Given the description of an element on the screen output the (x, y) to click on. 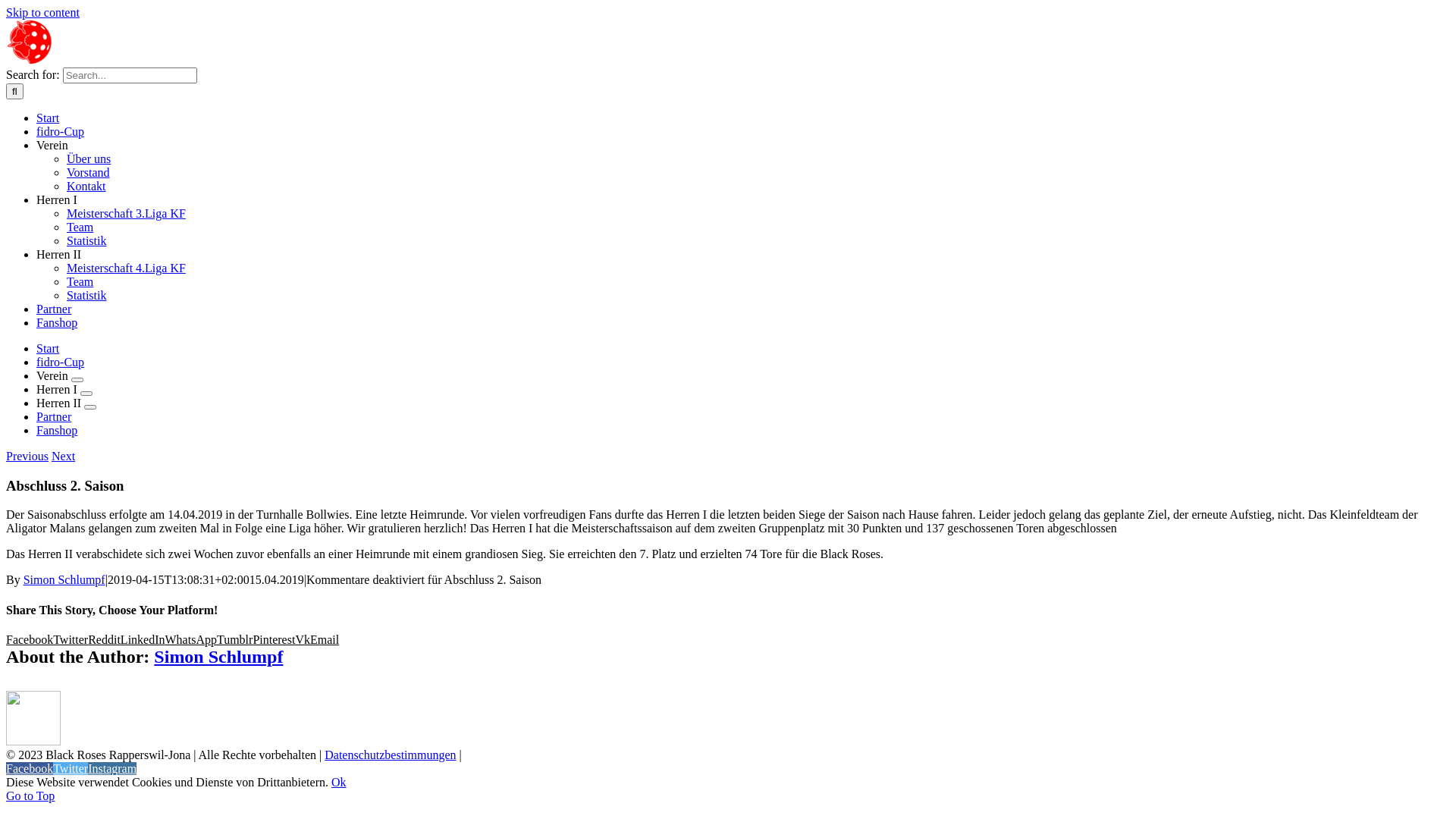
Datenschutzbestimmungen Element type: text (389, 754)
Pinterest Element type: text (273, 639)
Meisterschaft 3.Liga KF Element type: text (125, 213)
Next Element type: text (63, 455)
Twitter Element type: text (70, 639)
fidro-Cup Element type: text (60, 361)
Partner Element type: text (53, 308)
Statistik Element type: text (86, 294)
Vk Element type: text (302, 639)
Statistik Element type: text (86, 240)
Previous Element type: text (27, 455)
Verein Element type: text (52, 144)
Skip to content Element type: text (42, 12)
Fanshop Element type: text (56, 429)
Herren II Element type: text (58, 253)
Start Element type: text (47, 117)
Reddit Element type: text (103, 639)
Kontakt Element type: text (86, 185)
Go to Top Element type: text (30, 795)
Team Element type: text (79, 281)
Fanshop Element type: text (56, 322)
Facebook Element type: text (29, 639)
Twitter Element type: text (70, 768)
Herren I Element type: text (56, 199)
fidro-Cup Element type: text (60, 131)
Email Element type: text (324, 639)
LinkedIn Element type: text (142, 639)
Ok Element type: text (338, 781)
Facebook Element type: text (29, 768)
WhatsApp Element type: text (190, 639)
Verein Element type: text (53, 375)
Start Element type: text (47, 348)
Herren II Element type: text (60, 402)
Tumblr Element type: text (234, 639)
Simon Schlumpf Element type: text (64, 579)
Herren I Element type: text (58, 388)
Meisterschaft 4.Liga KF Element type: text (125, 267)
Team Element type: text (79, 226)
Instagram Element type: text (111, 768)
Partner Element type: text (53, 416)
Vorstand Element type: text (87, 172)
Simon Schlumpf Element type: text (217, 656)
